Given the description of an element on the screen output the (x, y) to click on. 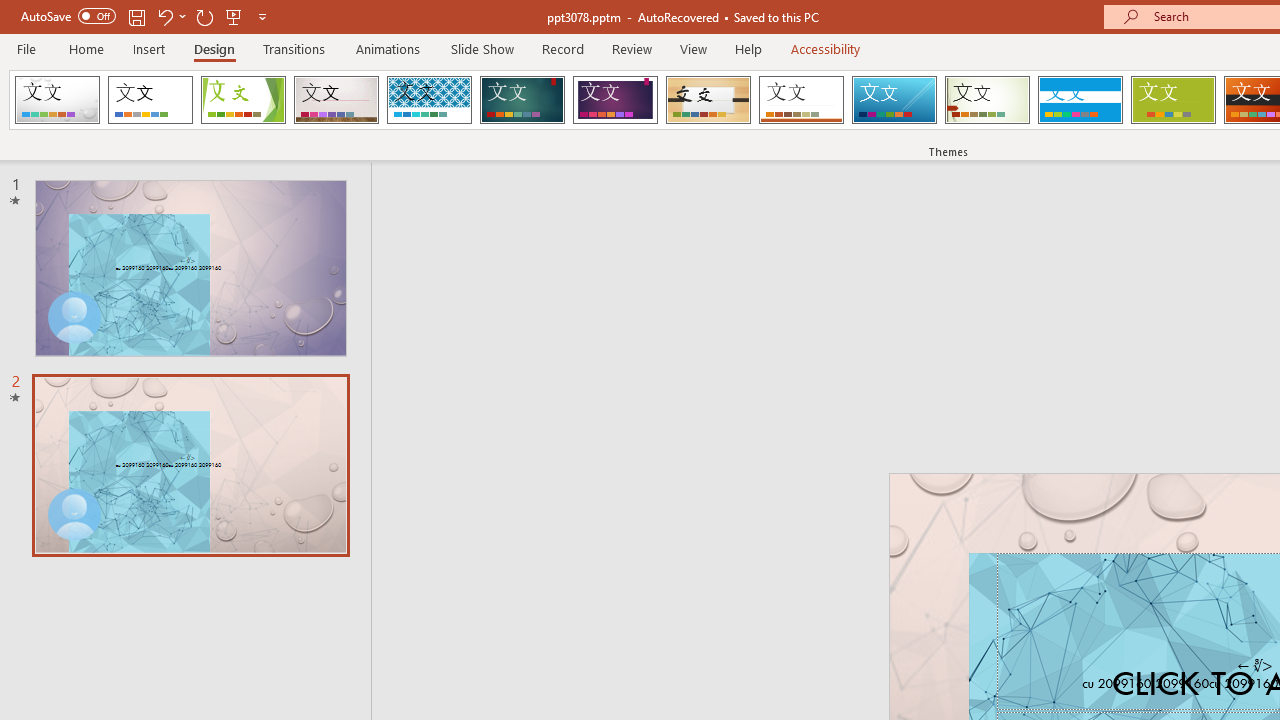
TextBox 7 (1254, 666)
Gallery (336, 100)
